Given the description of an element on the screen output the (x, y) to click on. 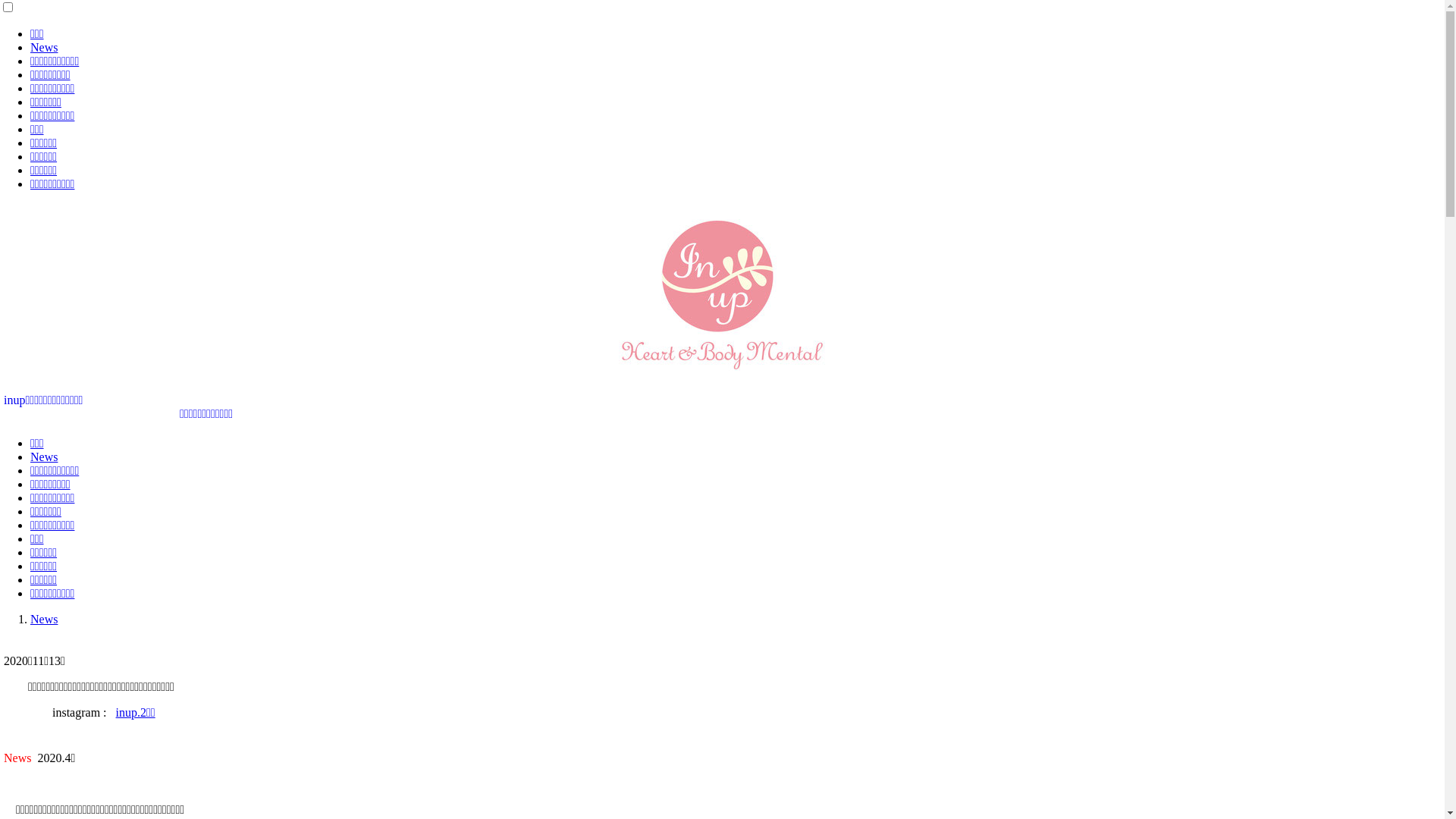
News Element type: text (43, 46)
News Element type: text (43, 618)
News Element type: text (43, 456)
